Given the description of an element on the screen output the (x, y) to click on. 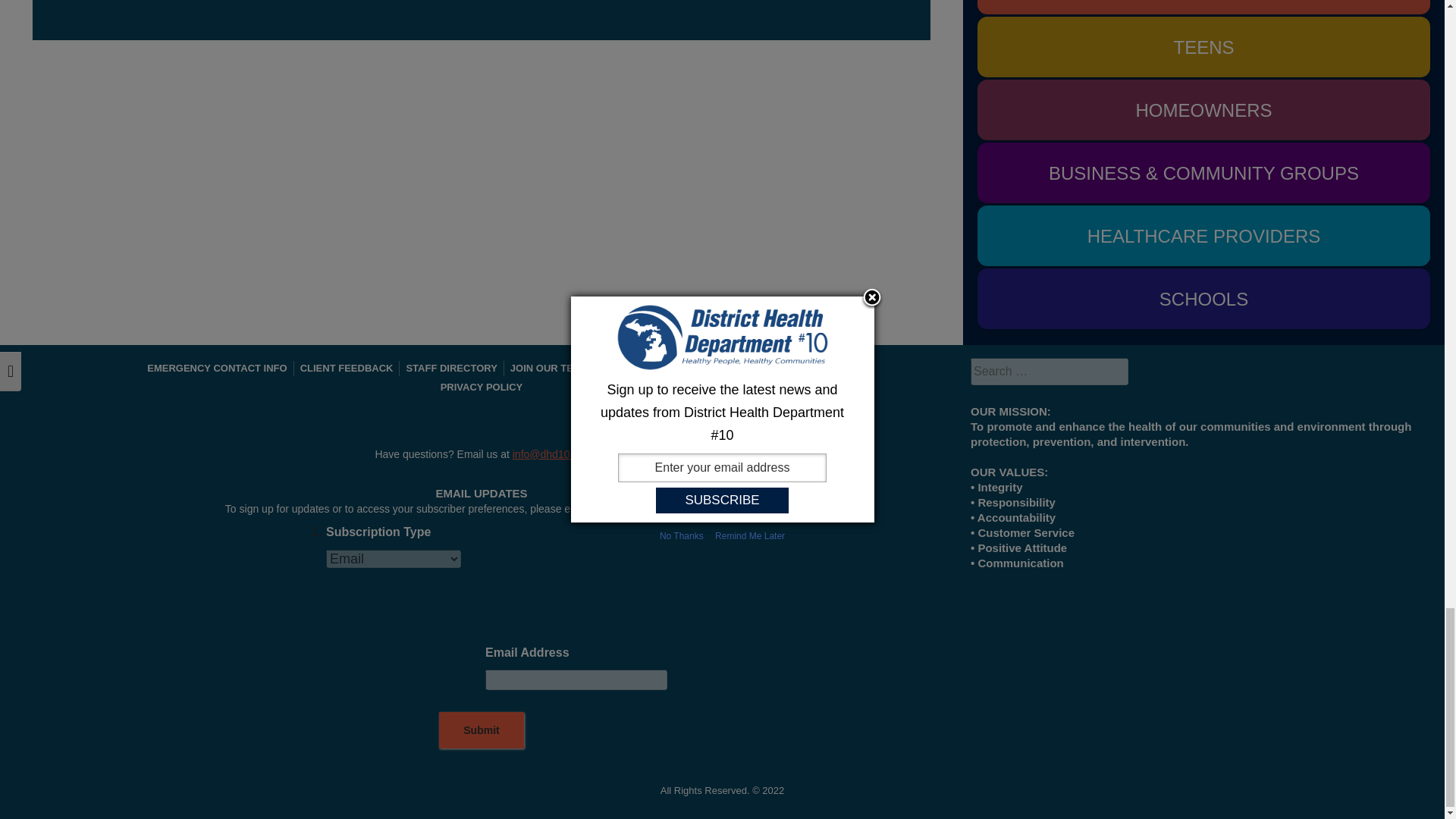
Parents (1202, 7)
Teens (1202, 46)
Homeowners (1202, 109)
Submit (480, 729)
